Given the description of an element on the screen output the (x, y) to click on. 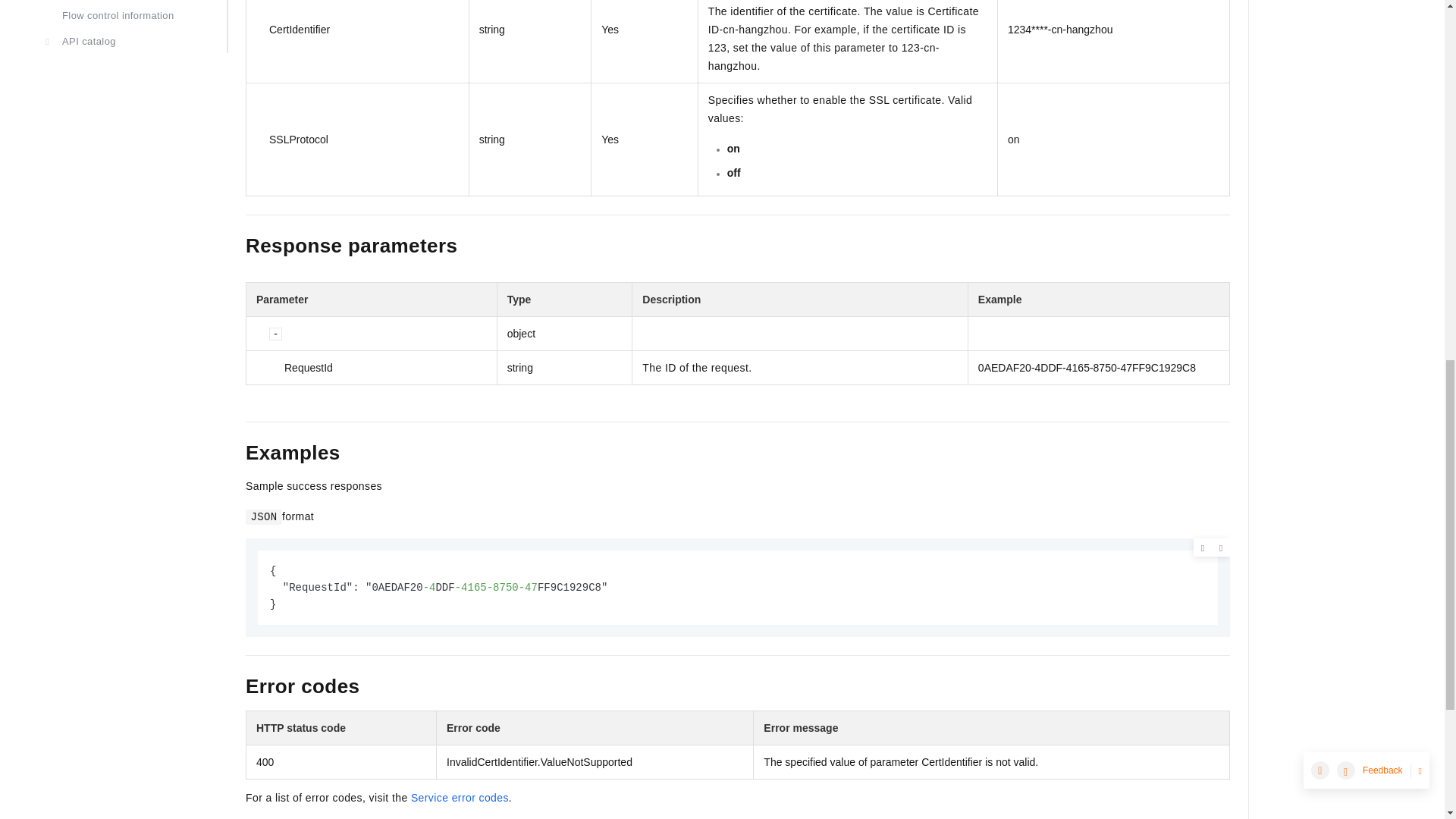
Service management (117, 250)
DescribeCdnCertificateList (117, 531)
Copy Code (1220, 547)
RAM authorization (117, 1)
Refresh and prefetch (117, 111)
API catalog (117, 41)
Certificate management (117, 276)
DescribeCdnDomainByCertificate (117, 399)
DescribeCdnSSLCertificateList (117, 575)
Change code theme (1202, 547)
DescribeDomainCertificateInfo (117, 443)
Domain name management (117, 76)
Log management (117, 225)
SetDomainServerCertificate (117, 311)
